Given the description of an element on the screen output the (x, y) to click on. 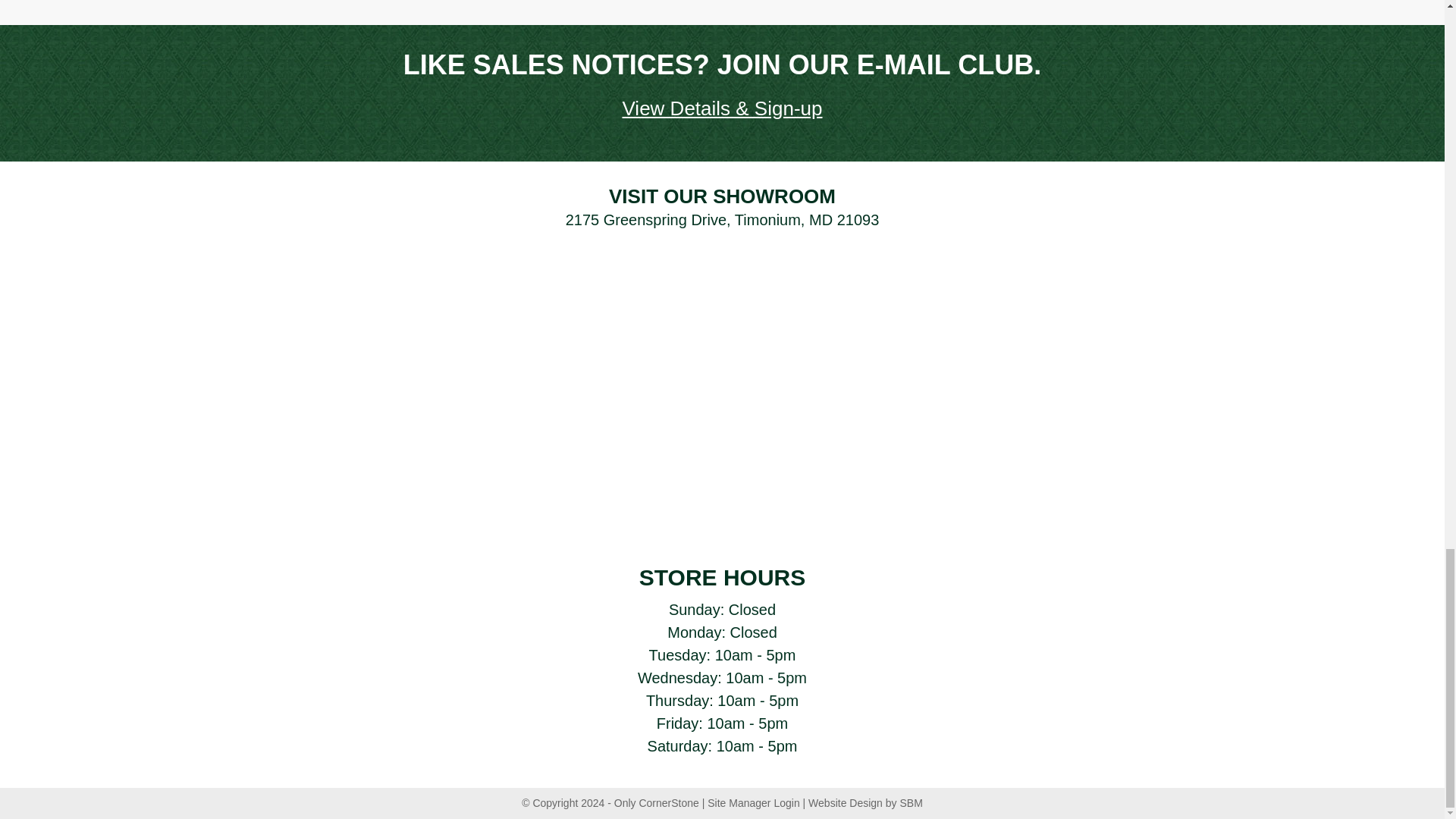
Site Manager Login (753, 802)
SBM (910, 802)
